Given the description of an element on the screen output the (x, y) to click on. 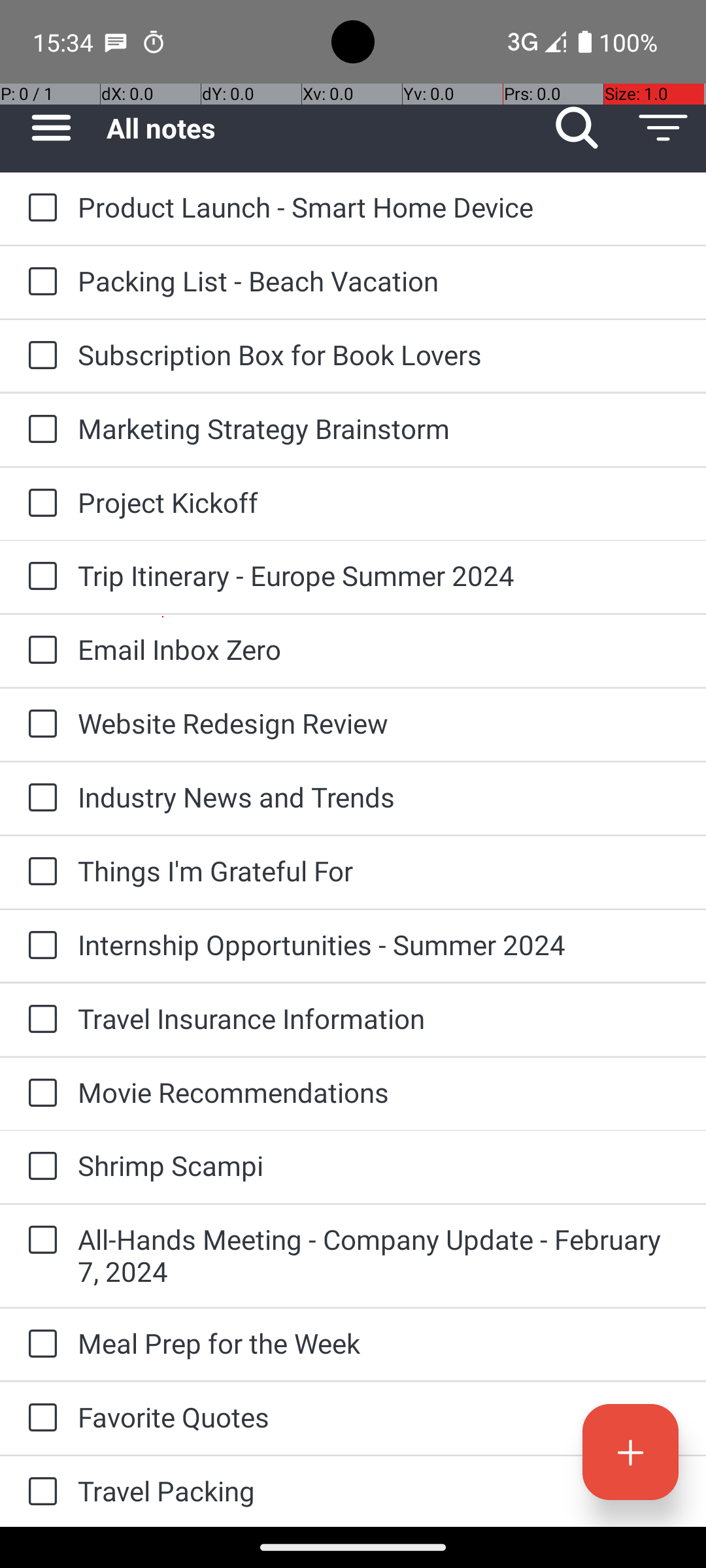
to-do: Product Launch - Smart Home Device Element type: android.widget.CheckBox (38, 208)
Product Launch - Smart Home Device Element type: android.widget.TextView (378, 206)
to-do: Packing List - Beach Vacation Element type: android.widget.CheckBox (38, 282)
Packing List - Beach Vacation Element type: android.widget.TextView (378, 280)
to-do: Subscription Box for Book Lovers Element type: android.widget.CheckBox (38, 356)
Subscription Box for Book Lovers Element type: android.widget.TextView (378, 354)
to-do: Marketing Strategy Brainstorm Element type: android.widget.CheckBox (38, 429)
Marketing Strategy Brainstorm Element type: android.widget.TextView (378, 427)
to-do: Trip Itinerary - Europe Summer 2024 Element type: android.widget.CheckBox (38, 576)
Trip Itinerary - Europe Summer 2024 Element type: android.widget.TextView (378, 574)
to-do: Email Inbox Zero Element type: android.widget.CheckBox (38, 650)
Email Inbox Zero Element type: android.widget.TextView (378, 648)
to-do: Website Redesign Review Element type: android.widget.CheckBox (38, 724)
Website Redesign Review Element type: android.widget.TextView (378, 722)
to-do: Industry News and Trends Element type: android.widget.CheckBox (38, 798)
Industry News and Trends Element type: android.widget.TextView (378, 796)
to-do: Things I'm Grateful For Element type: android.widget.CheckBox (38, 872)
Things I'm Grateful For Element type: android.widget.TextView (378, 870)
to-do: Travel Insurance Information Element type: android.widget.CheckBox (38, 1019)
Travel Insurance Information Element type: android.widget.TextView (378, 1017)
to-do: Shrimp Scampi Element type: android.widget.CheckBox (38, 1166)
Shrimp Scampi Element type: android.widget.TextView (378, 1164)
to-do: All-Hands Meeting - Company Update - February 7, 2024 Element type: android.widget.CheckBox (38, 1240)
to-do: Meal Prep for the Week Element type: android.widget.CheckBox (38, 1344)
to-do: Favorite Quotes Element type: android.widget.CheckBox (38, 1418)
Favorite Quotes Element type: android.widget.TextView (378, 1416)
to-do: Travel Packing Element type: android.widget.CheckBox (38, 1491)
Travel Packing Element type: android.widget.TextView (378, 1490)
